Given the description of an element on the screen output the (x, y) to click on. 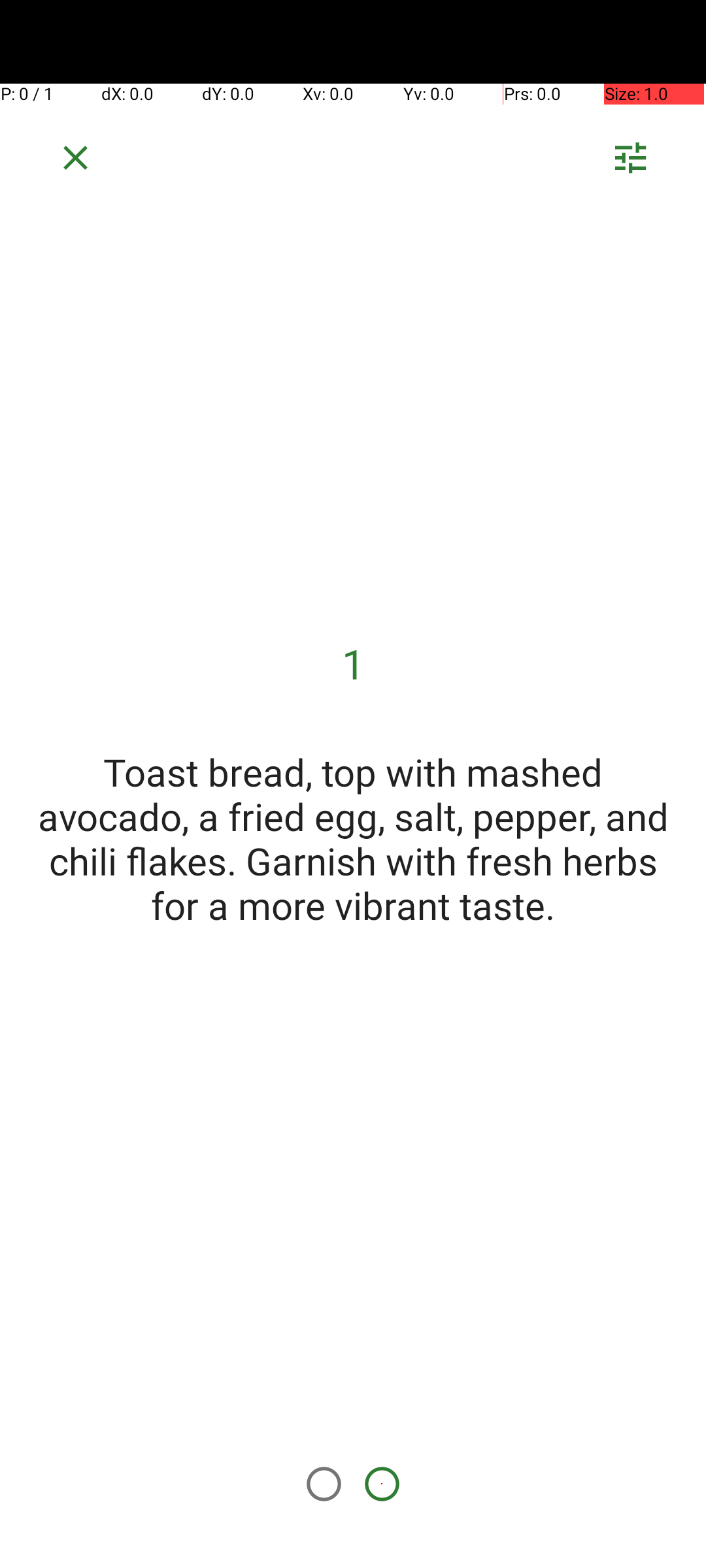
Toast bread, top with mashed avocado, a fried egg, salt, pepper, and chili flakes. Garnish with fresh herbs for a more vibrant taste. Element type: android.widget.TextView (352, 838)
